Given the description of an element on the screen output the (x, y) to click on. 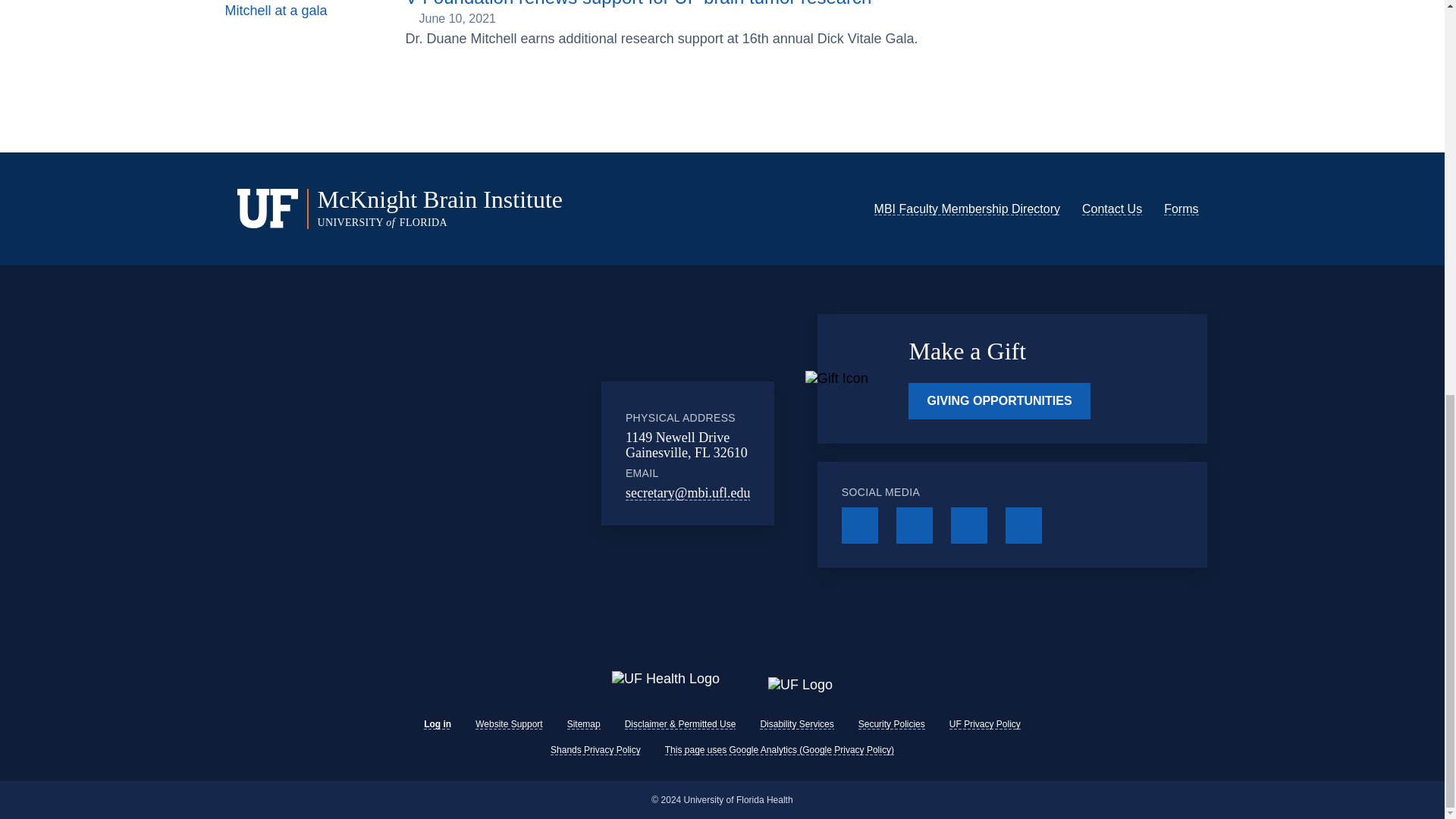
Website Support (509, 724)
Disability Services (796, 724)
UF Privacy Policy (984, 724)
Security Policies (891, 724)
Shands Privacy Policy (595, 749)
MBI Faculty Membership Directory (967, 208)
Sitemap (583, 724)
Forms (1180, 208)
Contact Us (1111, 208)
Log in (437, 724)
Google Maps Embed (477, 452)
